Given the description of an element on the screen output the (x, y) to click on. 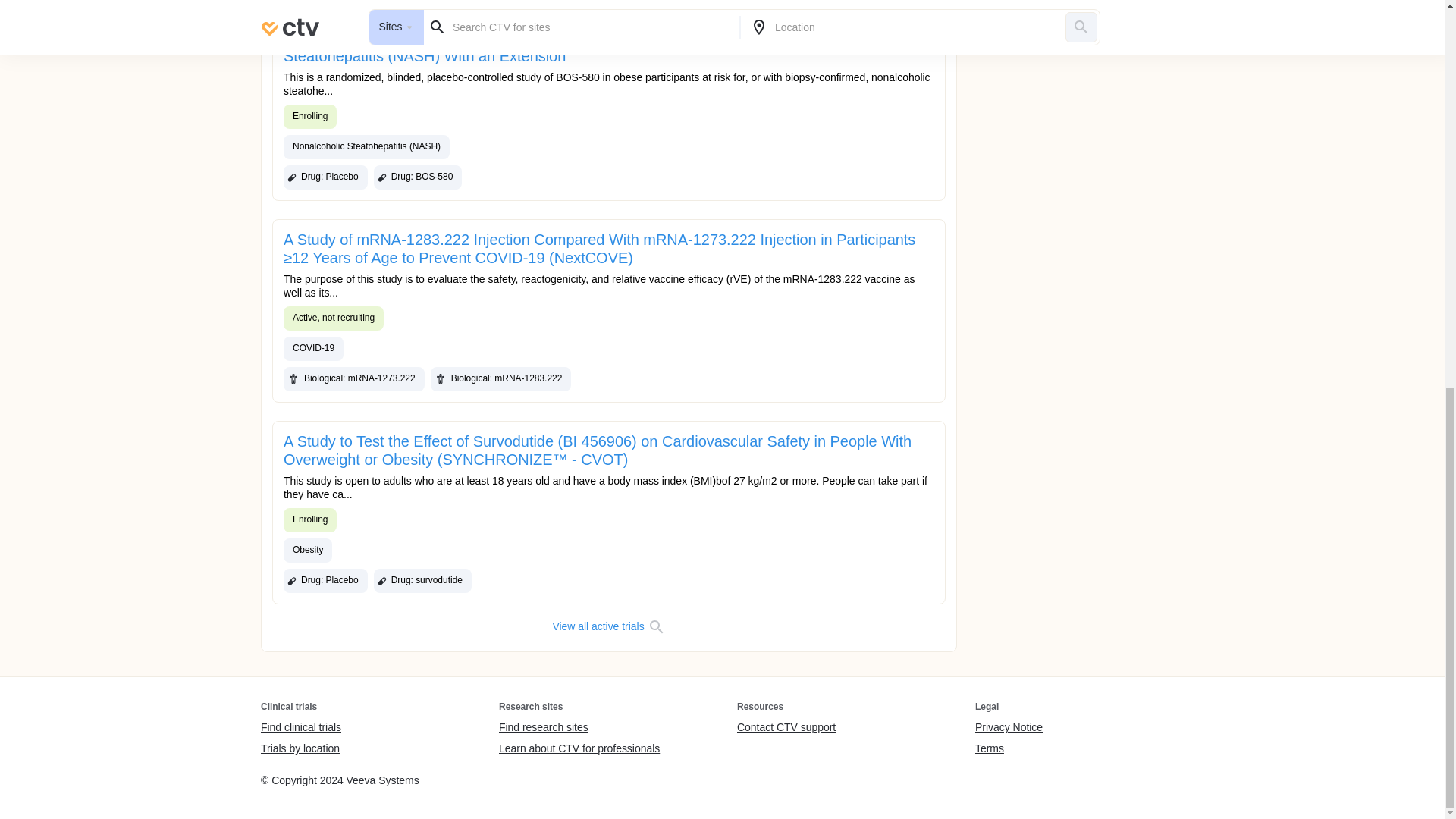
4 total trials (393, 0)
Trials by location (300, 748)
Contact CTV support (785, 727)
Find clinical trials (300, 727)
Terms (1008, 748)
Learn about CTV for professionals (579, 748)
View all active trials (608, 627)
Find research sites (579, 727)
Privacy Notice (1008, 727)
